Given the description of an element on the screen output the (x, y) to click on. 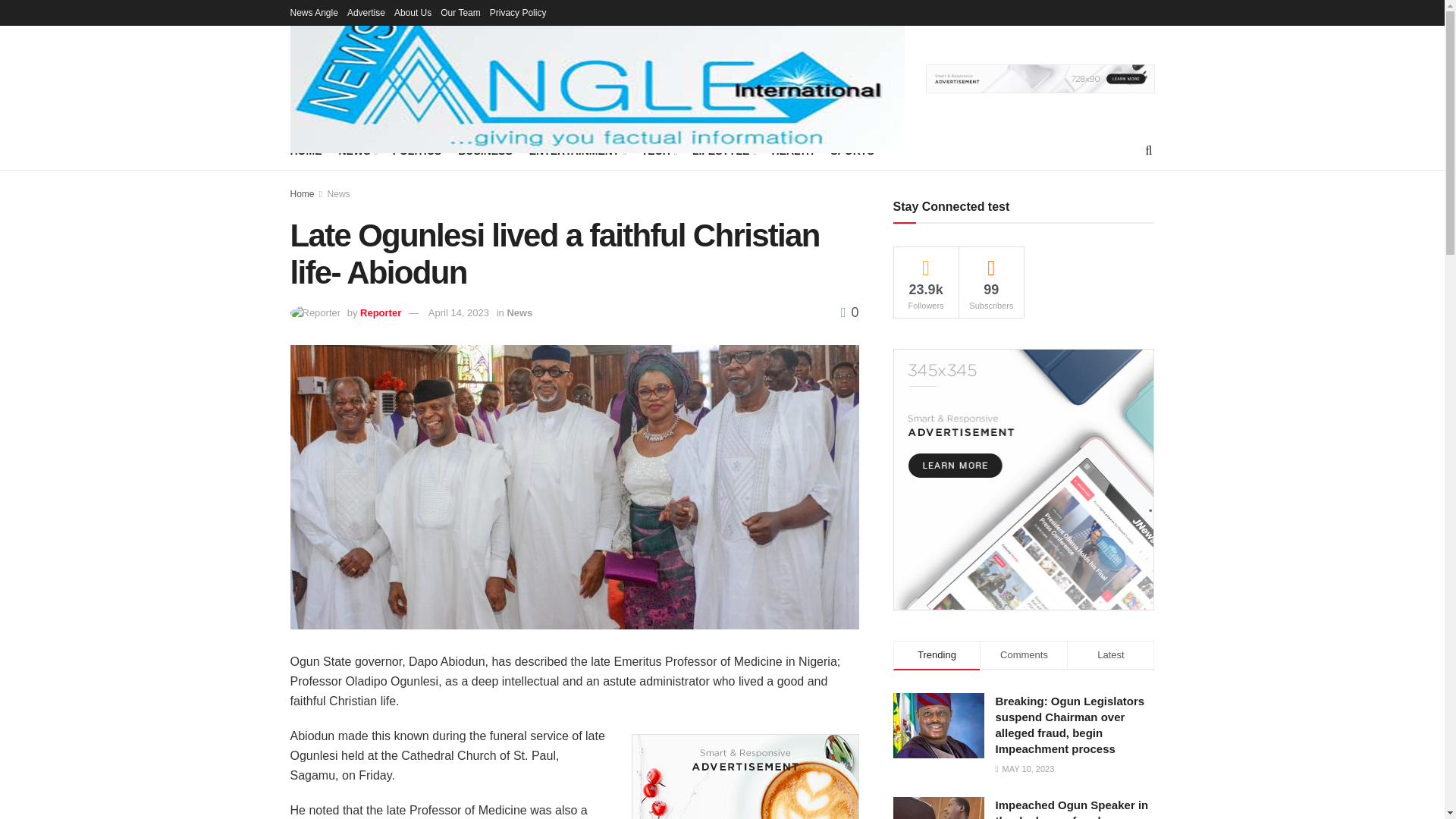
Our Team (460, 12)
Privacy Policy (518, 12)
Advertise (366, 12)
POLITICS (417, 150)
BUSINESS (485, 150)
ENTERTAINMENT (576, 150)
HOME (305, 150)
News Angle (313, 12)
NEWS (356, 150)
About Us (412, 12)
